Given the description of an element on the screen output the (x, y) to click on. 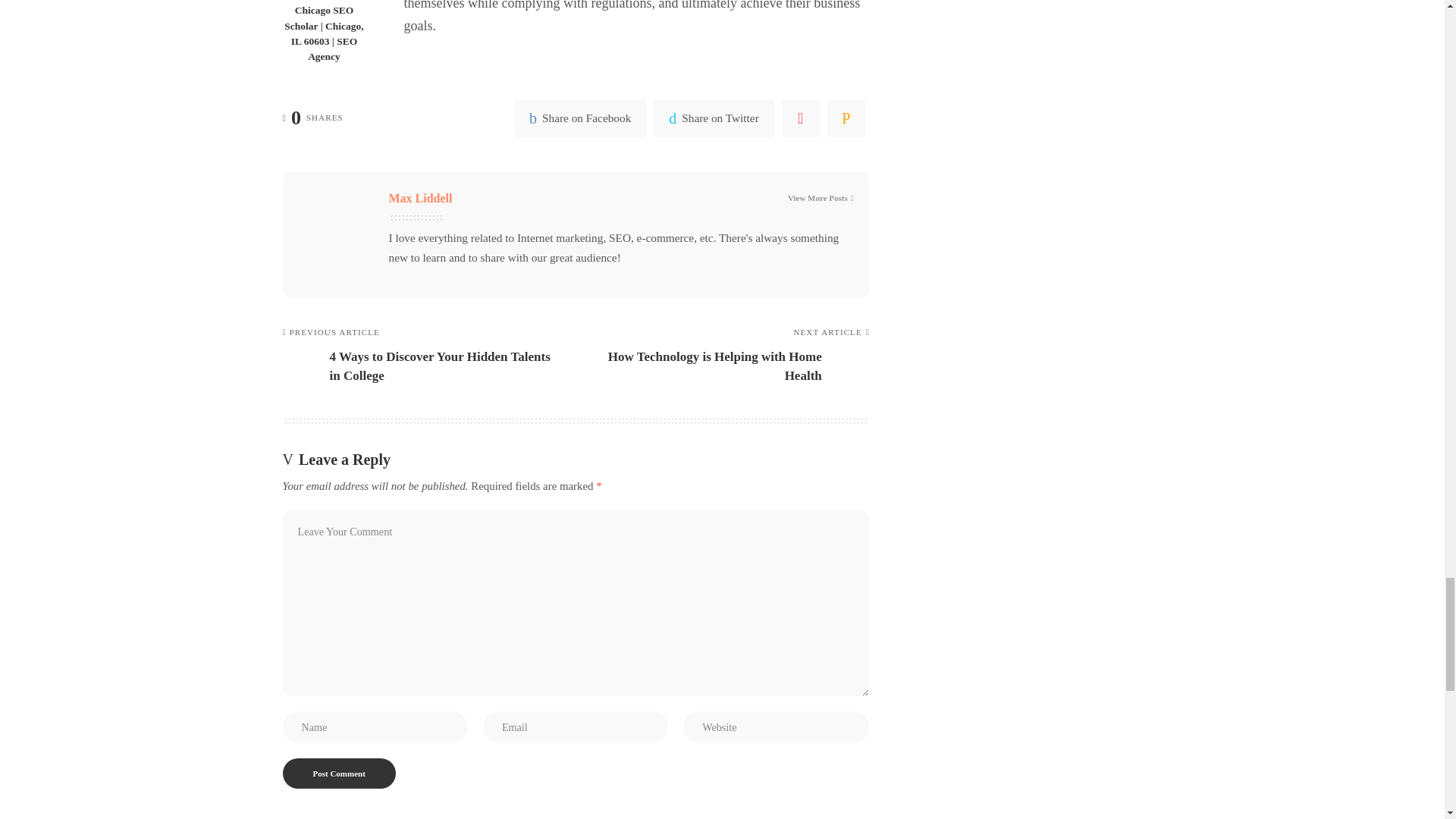
Post Comment (338, 773)
